Given the description of an element on the screen output the (x, y) to click on. 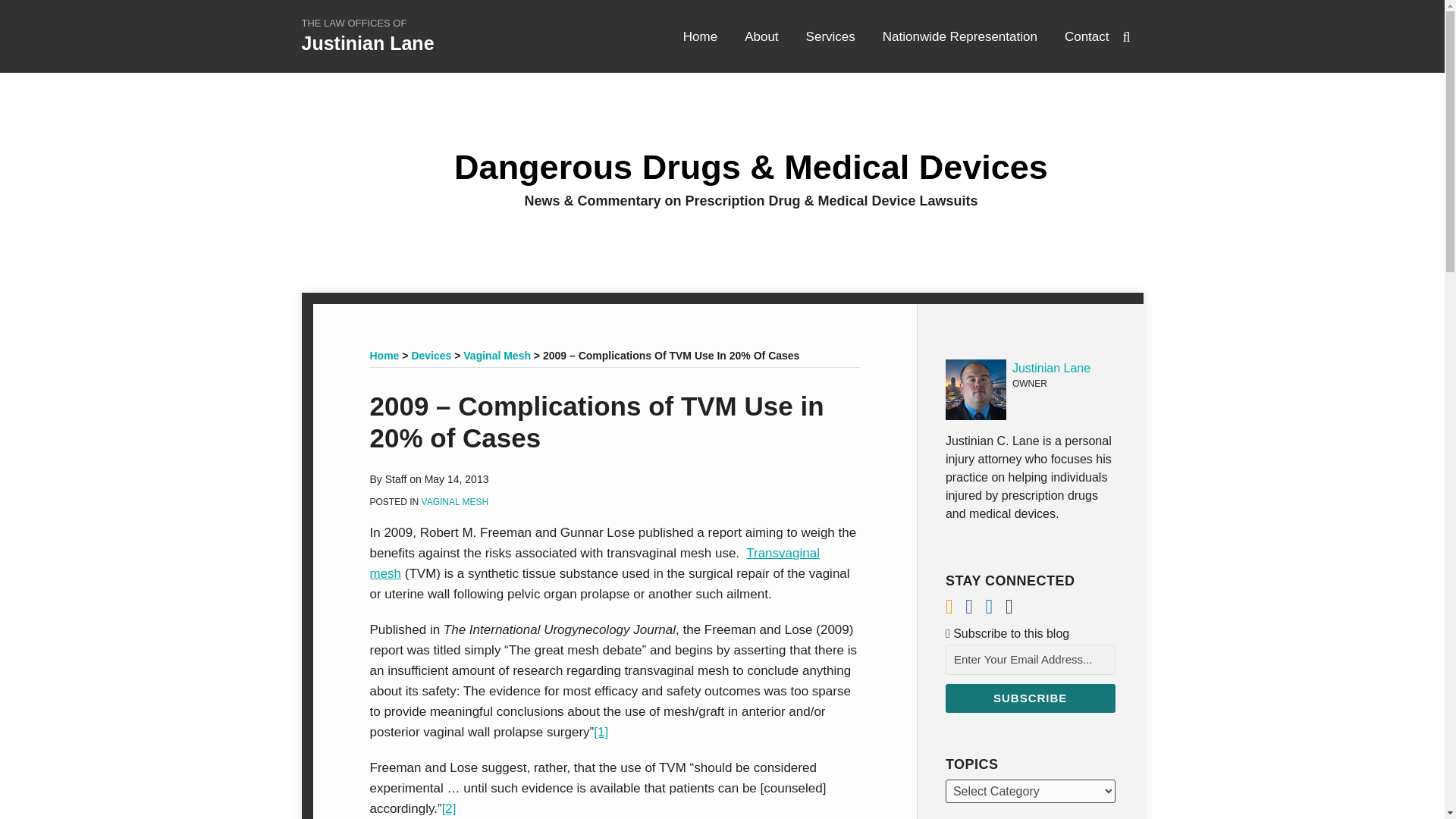
About (760, 36)
Contact (1086, 36)
VAGINAL MESH (455, 501)
Nationwide Representation (959, 36)
Services (831, 36)
Subscribe (1029, 697)
Devices (430, 355)
Home (699, 36)
Vaginal Mesh (497, 355)
Transvaginal mesh (594, 563)
